Given the description of an element on the screen output the (x, y) to click on. 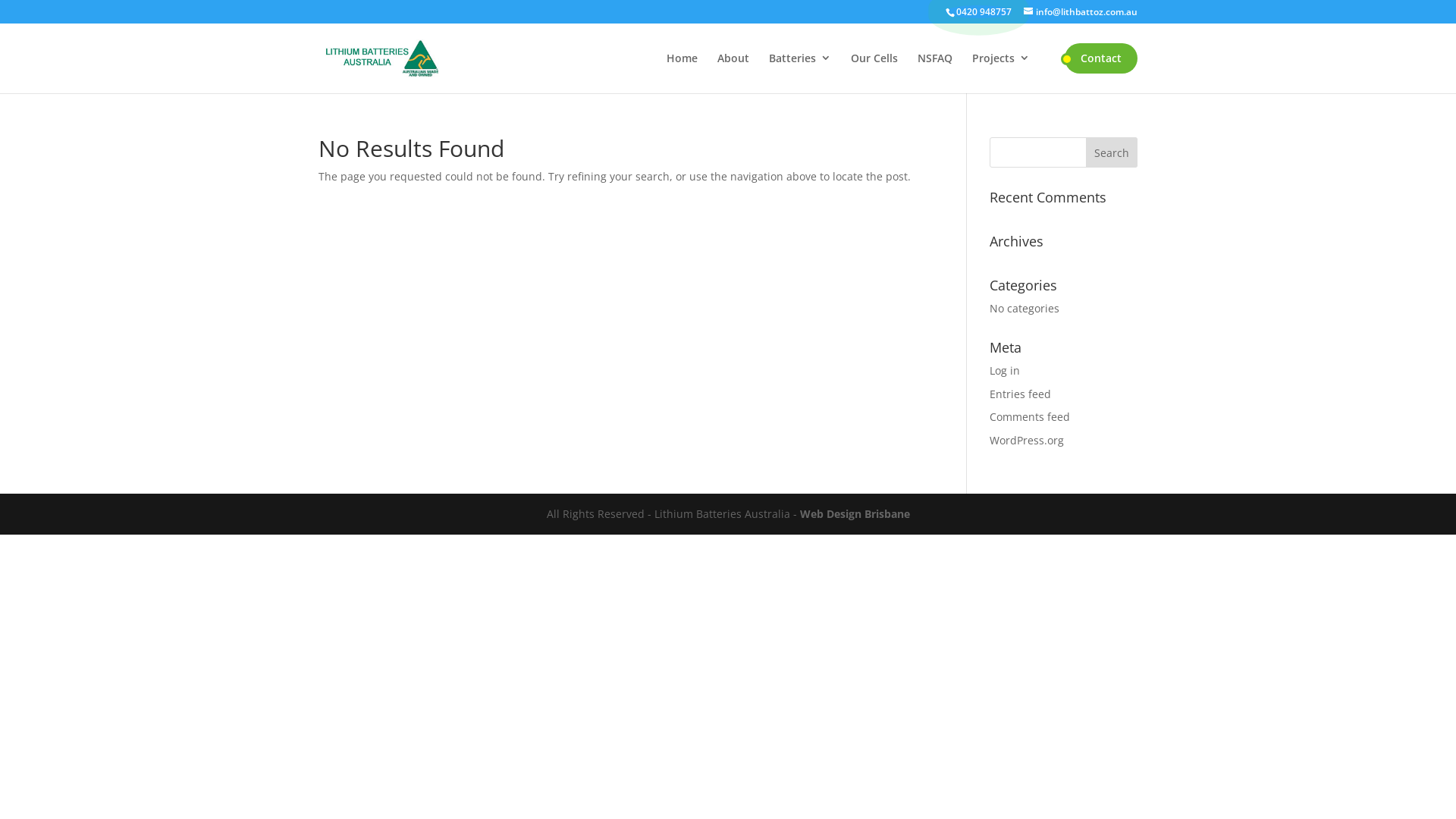
info@lithbattoz.com.au Element type: text (1080, 11)
Log in Element type: text (1004, 370)
Search Element type: text (1111, 152)
WordPress.org Element type: text (1026, 440)
Our Cells Element type: text (873, 58)
Projects Element type: text (1000, 58)
Comments feed Element type: text (1029, 416)
Home Element type: text (681, 58)
Batteries Element type: text (799, 58)
NSFAQ Element type: text (934, 58)
About Element type: text (733, 58)
Entries feed Element type: text (1020, 393)
Contact Element type: text (1100, 58)
Web Design Brisbane Element type: text (854, 513)
